Given the description of an element on the screen output the (x, y) to click on. 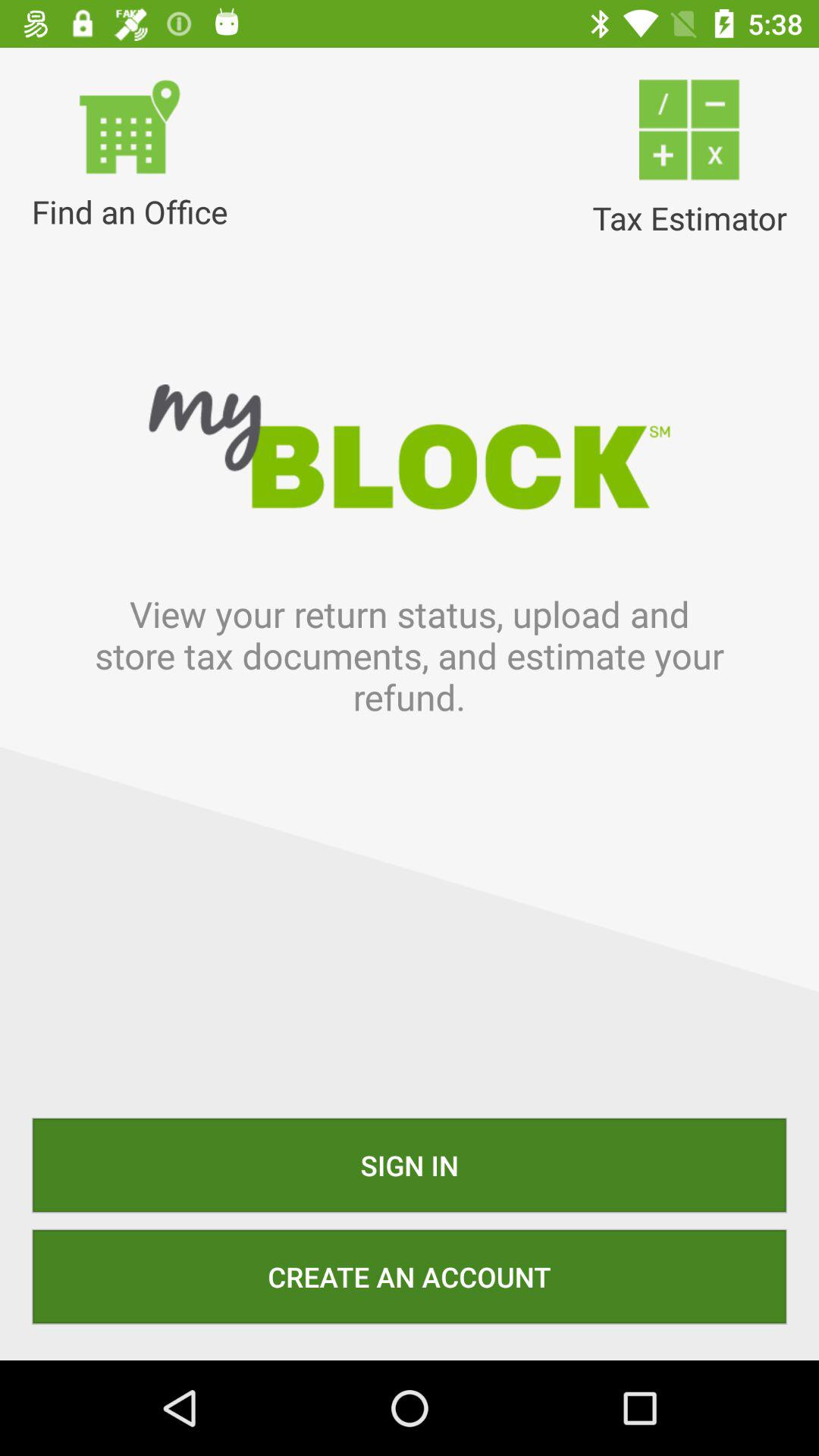
launch item above the create an account item (409, 1165)
